Given the description of an element on the screen output the (x, y) to click on. 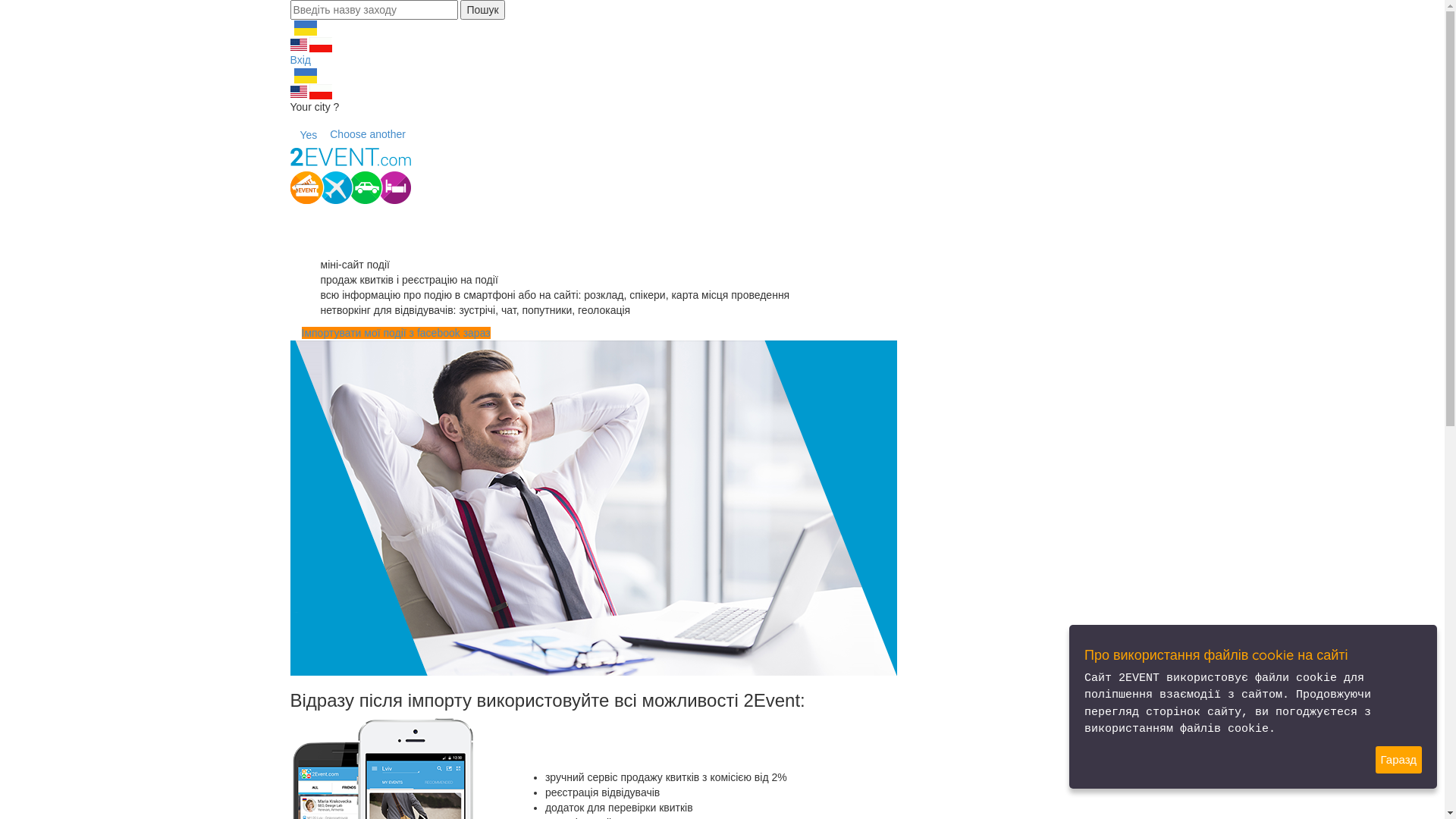
Yes Element type: text (307, 134)
Choose another Element type: text (367, 134)
